Given the description of an element on the screen output the (x, y) to click on. 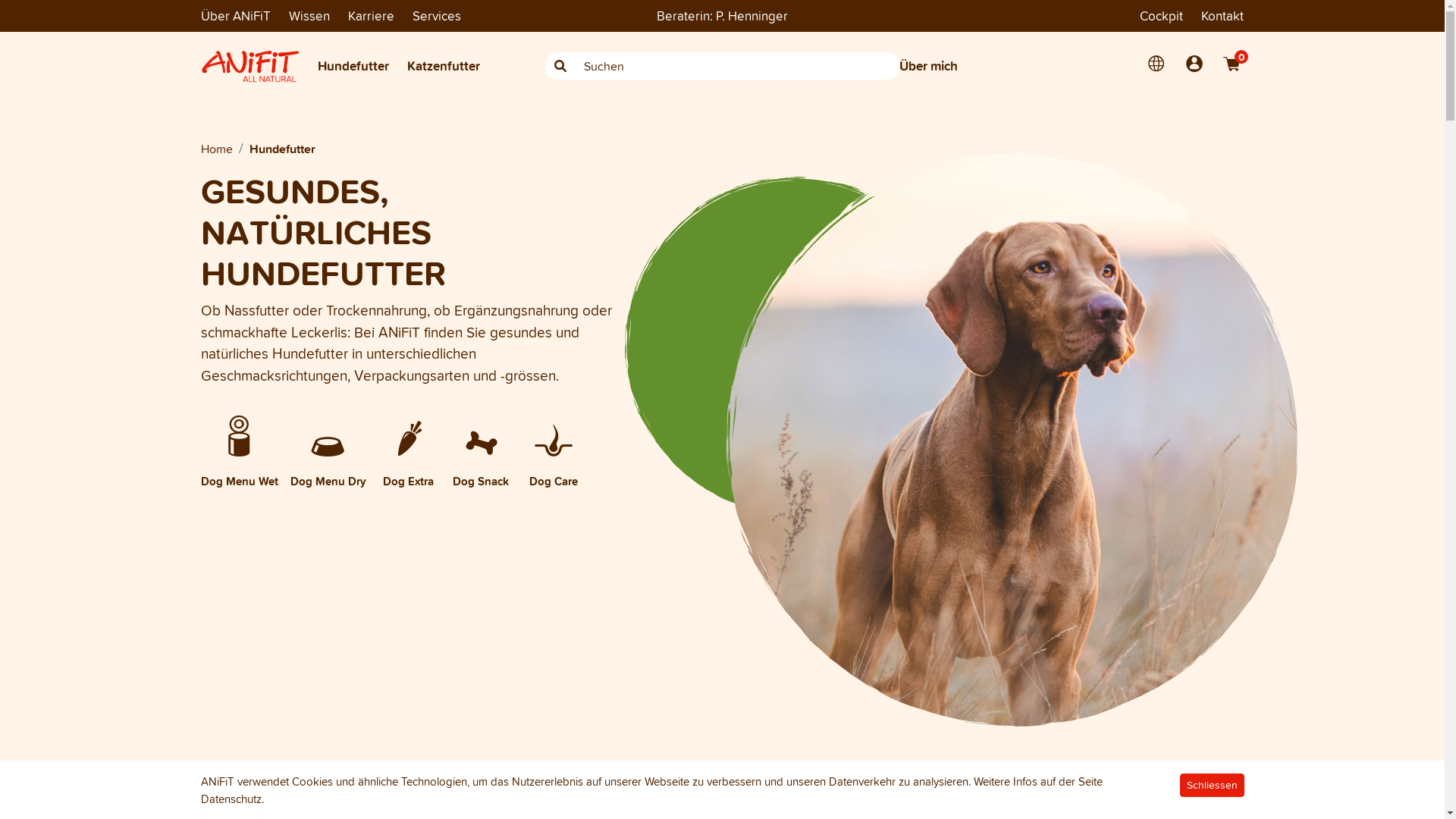
Kontakt Element type: text (1222, 15)
Home Element type: text (216, 147)
Datenschutz Element type: text (230, 798)
Karriere Element type: text (370, 15)
Cockpit Element type: text (1161, 15)
Dog Snack Element type: text (480, 463)
Hundefutter Element type: text (352, 65)
Dog Menu Dry Element type: text (327, 463)
Services Element type: text (436, 15)
Katzenfutter Element type: text (442, 65)
0 Element type: text (1230, 63)
Dog Menu Wet Element type: text (238, 463)
Schliessen Element type: text (1211, 785)
Dog Care Element type: text (553, 463)
Wissen Element type: text (308, 15)
Dog Extra Element type: text (407, 463)
